Given the description of an element on the screen output the (x, y) to click on. 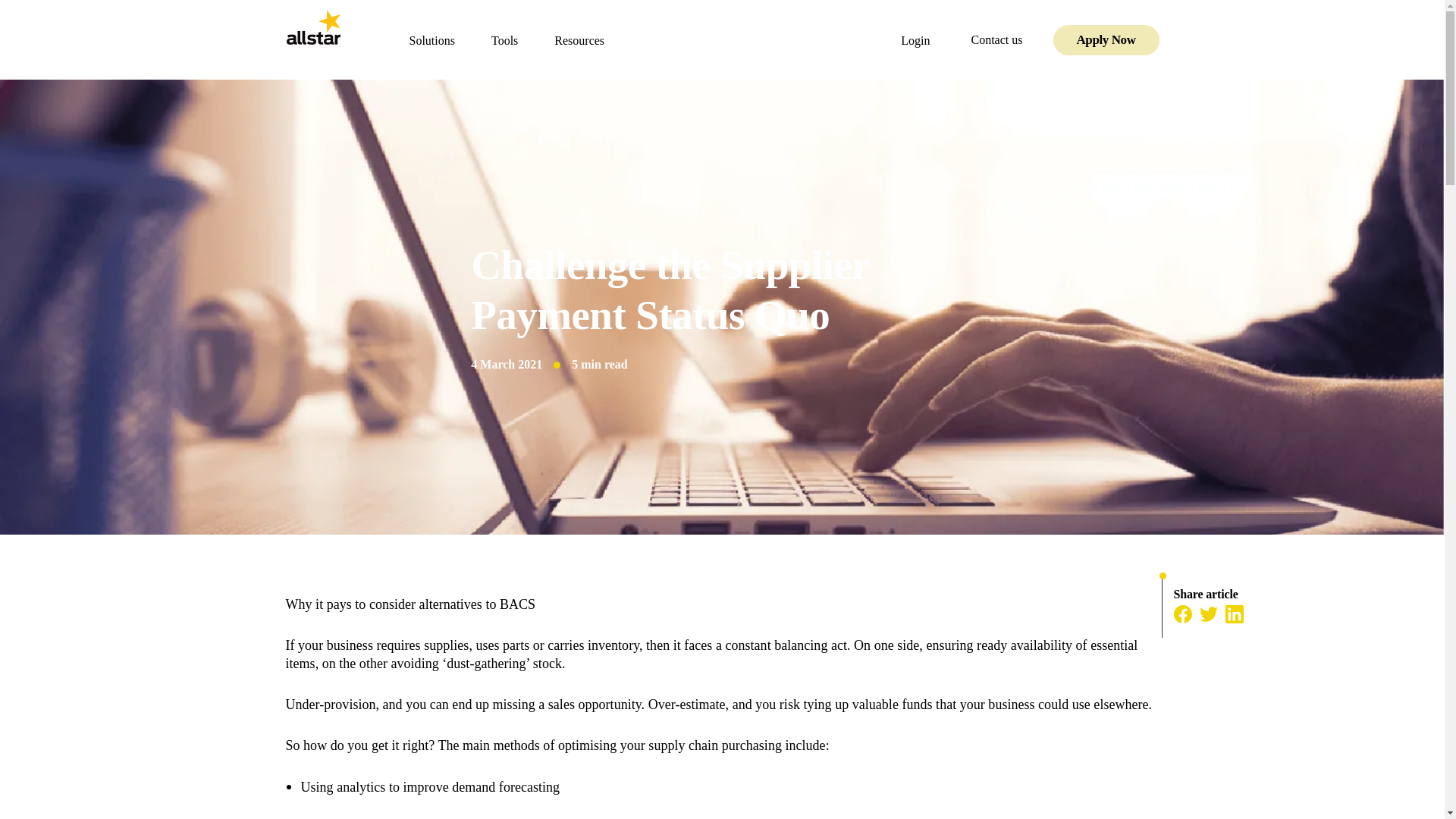
Apply Now (1105, 39)
Contact us (1003, 39)
